Given the description of an element on the screen output the (x, y) to click on. 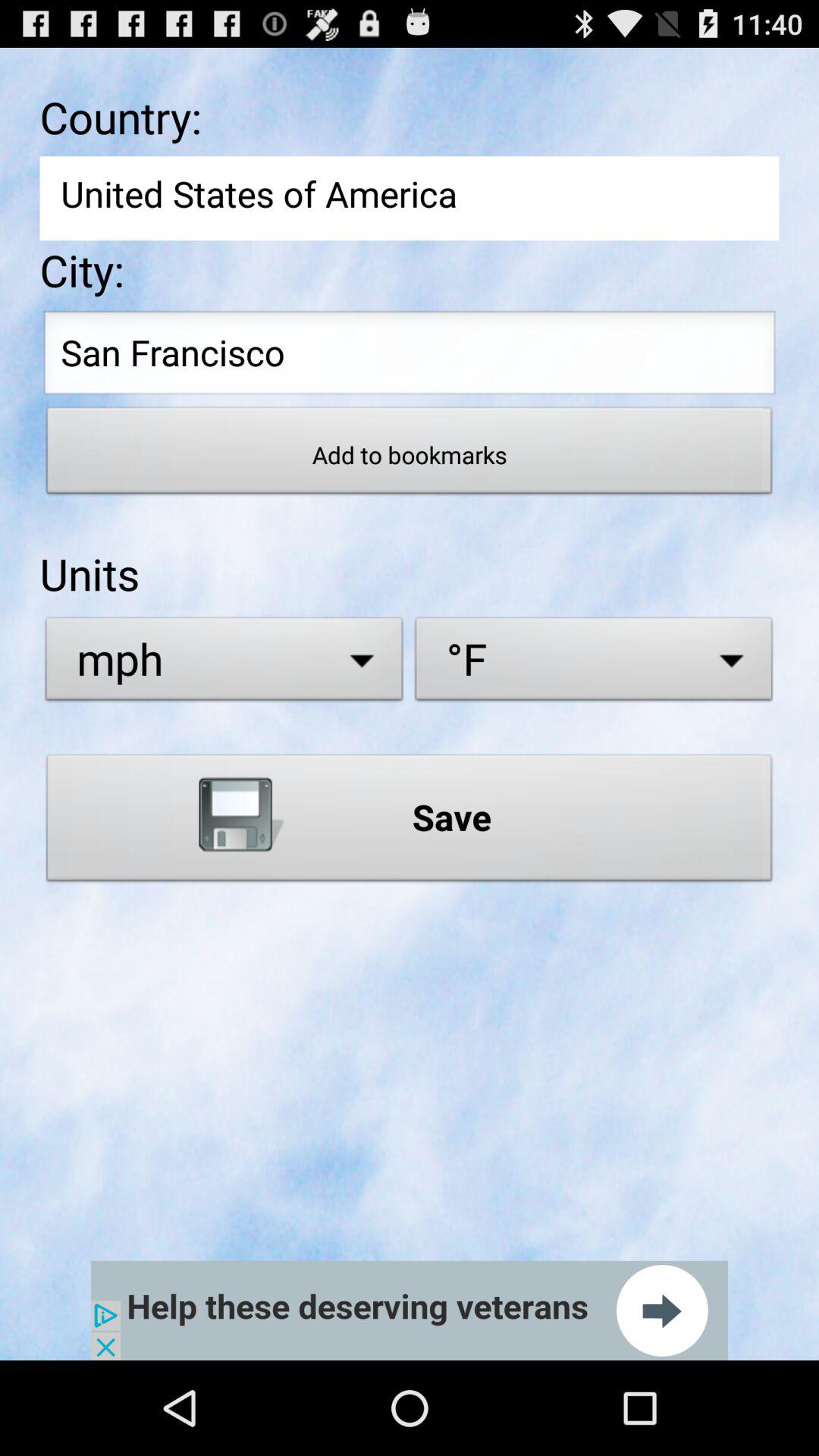
next the page (409, 1310)
